Given the description of an element on the screen output the (x, y) to click on. 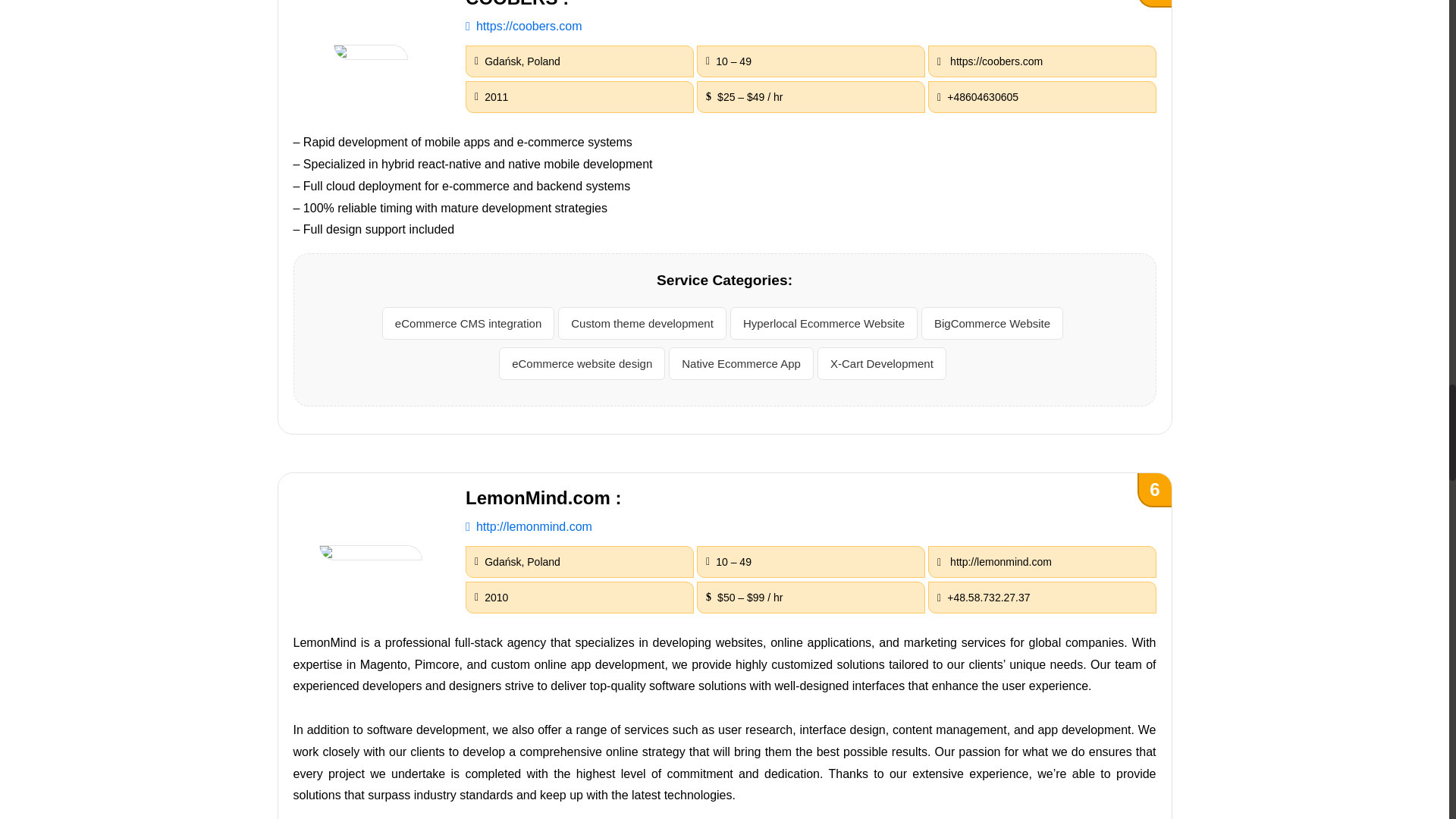
COOBERS (522, 25)
LemonMind.com (370, 552)
COOBERS (370, 52)
LemonMind.com (528, 526)
